Given the description of an element on the screen output the (x, y) to click on. 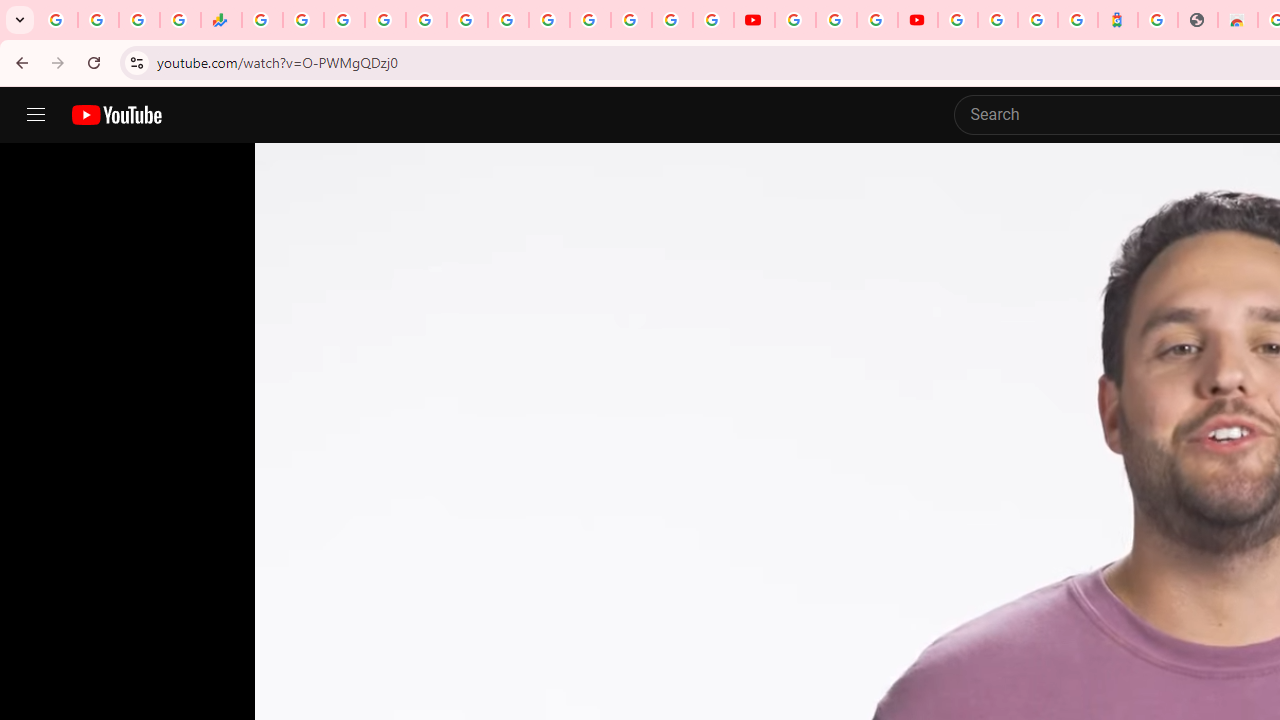
Google Workspace Admin Community (57, 20)
Create your Google Account (877, 20)
Atour Hotel - Google hotels (1117, 20)
Sign in - Google Accounts (384, 20)
Sign in - Google Accounts (671, 20)
YouTube (753, 20)
YouTube Home (116, 115)
Privacy Checkup (712, 20)
Sign in - Google Accounts (589, 20)
YouTube (548, 20)
